Given the description of an element on the screen output the (x, y) to click on. 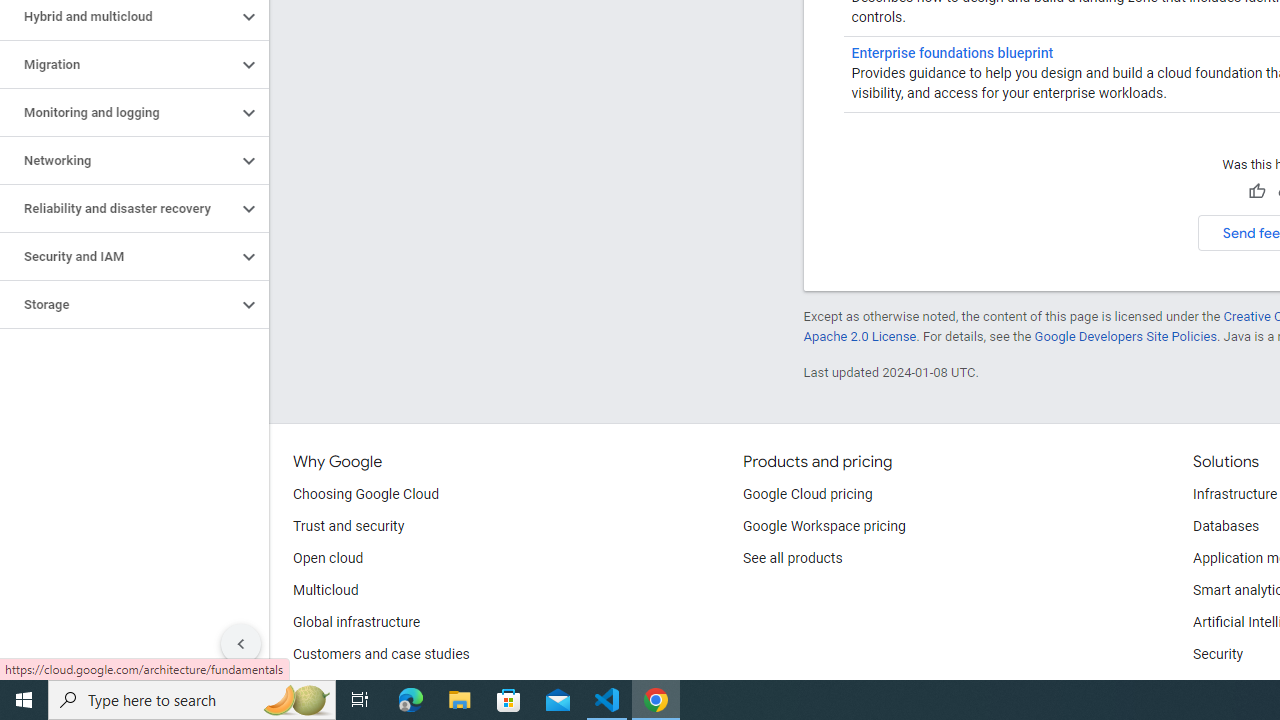
Google Cloud pricing (807, 494)
Multicloud (325, 590)
Hybrid and multicloud (118, 16)
Networking (118, 160)
Google Developers Site Policies (1125, 336)
Helpful (1256, 192)
Hide side navigation (241, 643)
Analyst reports (340, 686)
Open cloud (328, 558)
